Given the description of an element on the screen output the (x, y) to click on. 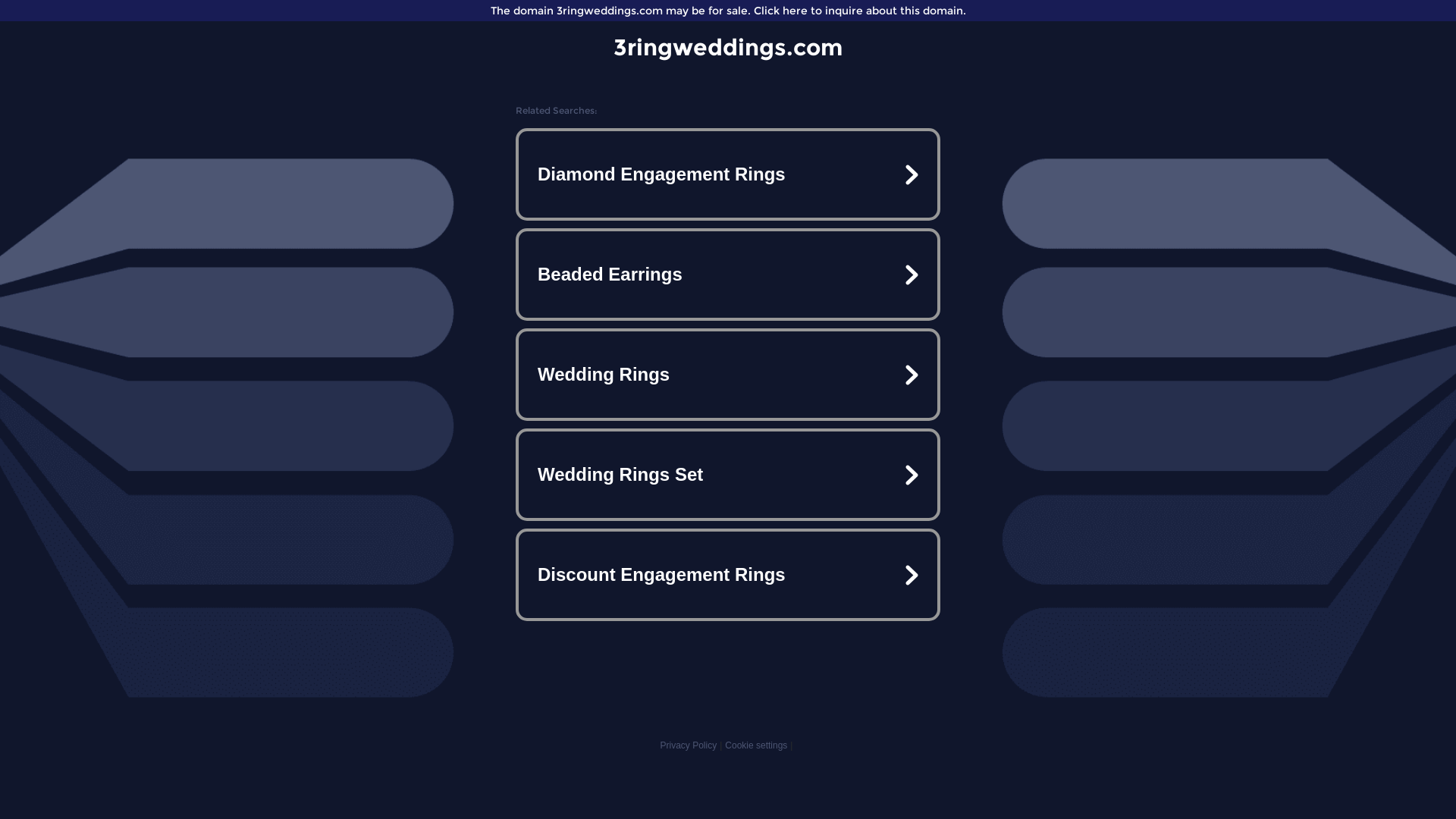
Wedding Rings Element type: text (727, 374)
Discount Engagement Rings Element type: text (727, 574)
3ringweddings.com Element type: text (727, 47)
Beaded Earrings Element type: text (727, 274)
Cookie settings Element type: text (755, 745)
Wedding Rings Set Element type: text (727, 474)
Diamond Engagement Rings Element type: text (727, 174)
Privacy Policy Element type: text (687, 745)
